Given the description of an element on the screen output the (x, y) to click on. 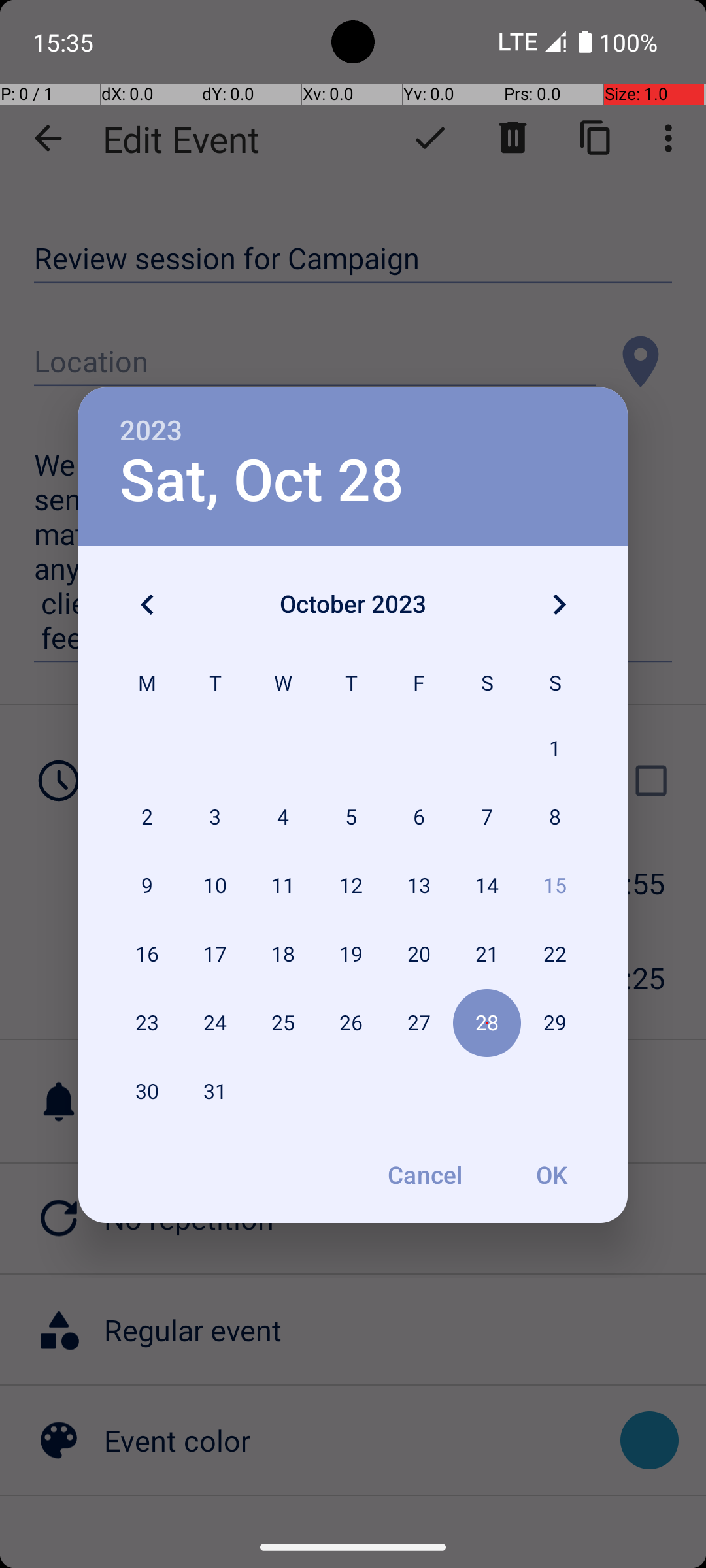
Sat, Oct 28 Element type: android.widget.TextView (261, 480)
